Given the description of an element on the screen output the (x, y) to click on. 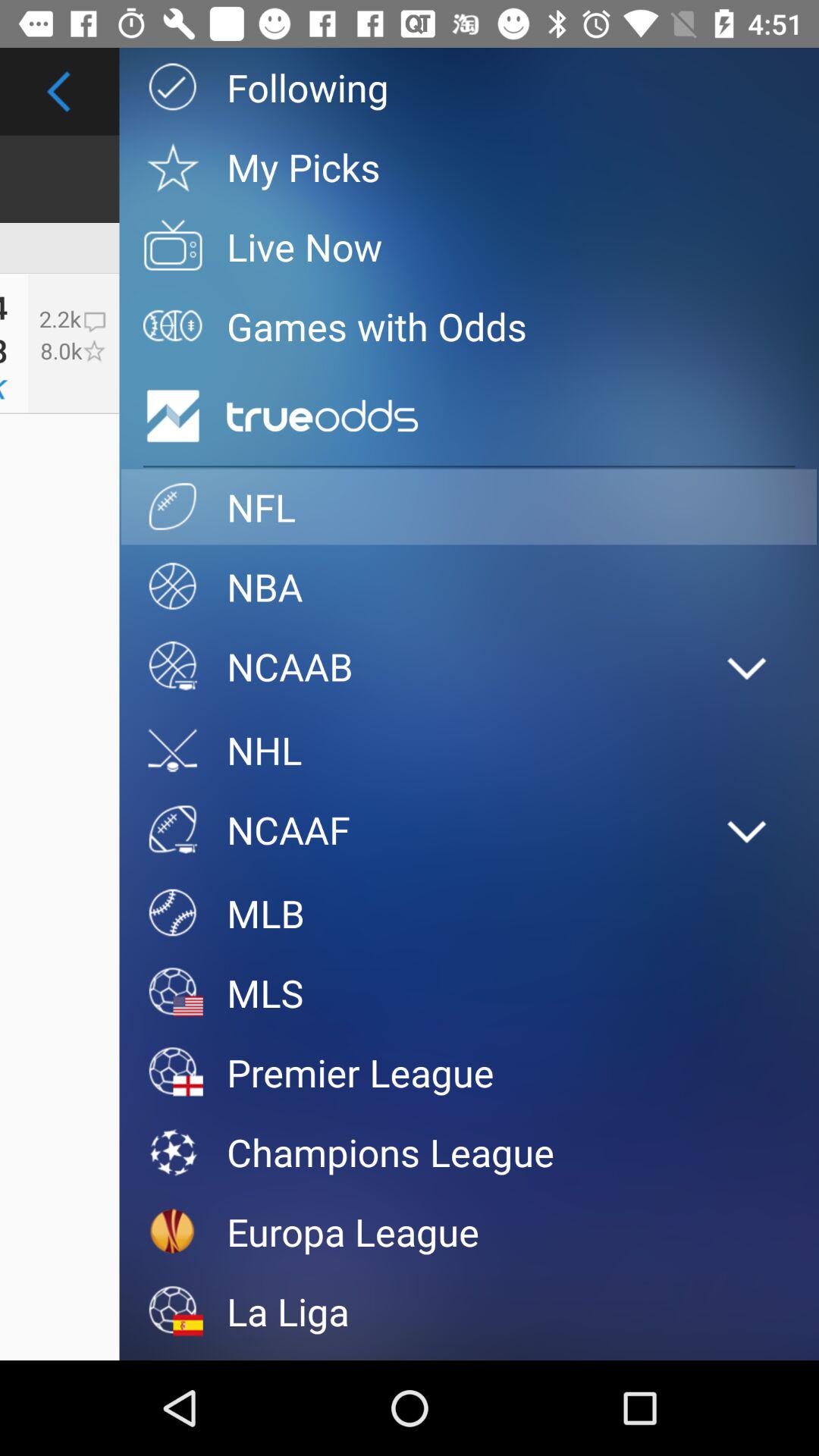
swipe to 34 (3, 300)
